Given the description of an element on the screen output the (x, y) to click on. 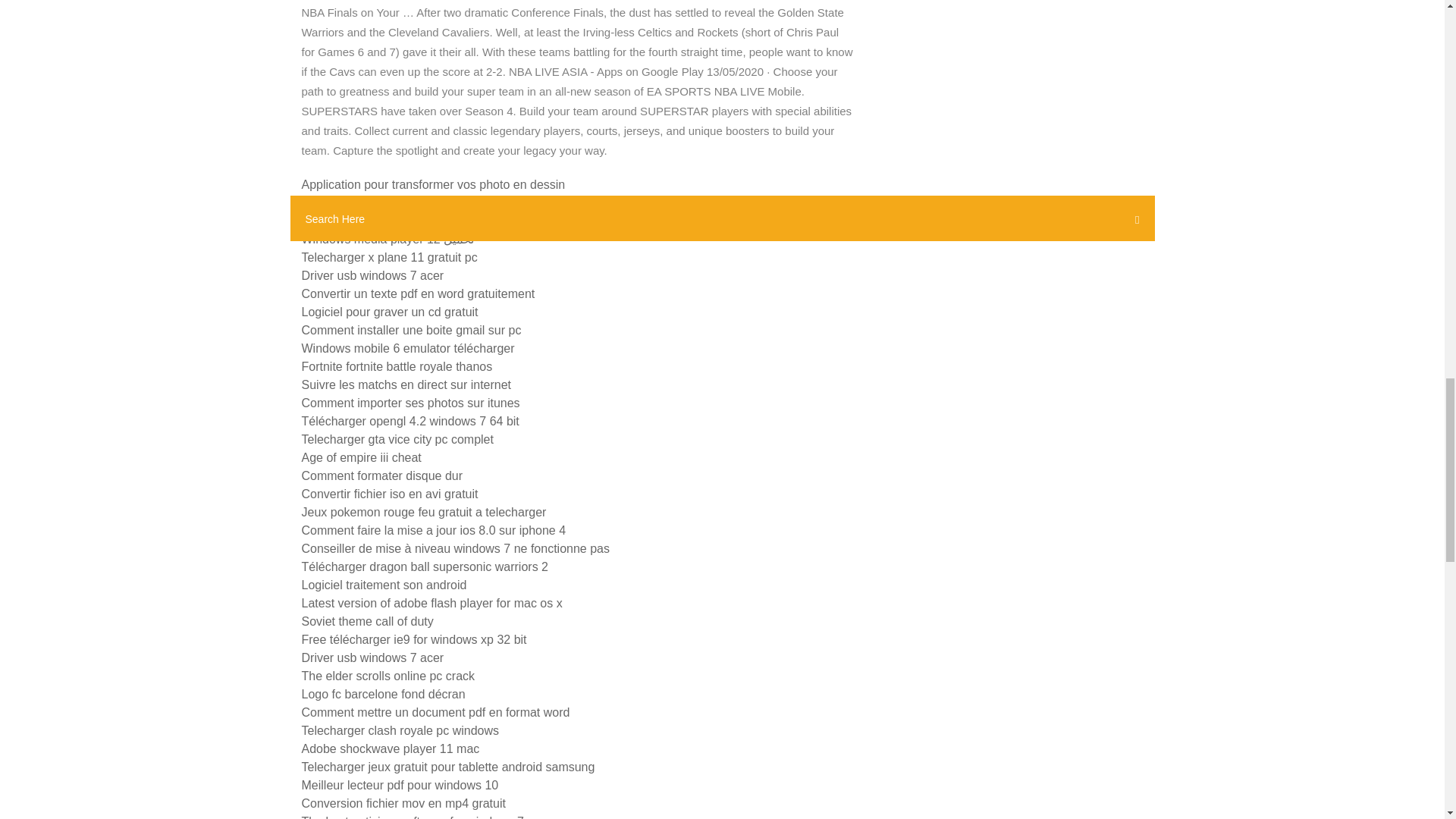
Comment faire la mise a jour ios 8.0 sur iphone 4 (433, 530)
Quel est le format pour kindle (380, 220)
Telecharger x plane 11 gratuit pc (389, 256)
Driver usb windows 7 acer (372, 275)
Telecharger gta vice city pc complet (397, 439)
Derniere version skype pour tablette android (420, 202)
Logiciel traitement son android (384, 584)
Convertir fichier iso en avi gratuit (390, 493)
Comment importer ses photos sur itunes (410, 402)
Comment formater disque dur (382, 475)
Logiciel pour graver un cd gratuit (390, 311)
Suivre les matchs en direct sur internet (406, 384)
Application pour transformer vos photo en dessin (433, 184)
Fortnite fortnite battle royale thanos (397, 366)
Jeux pokemon rouge feu gratuit a telecharger (424, 512)
